Given the description of an element on the screen output the (x, y) to click on. 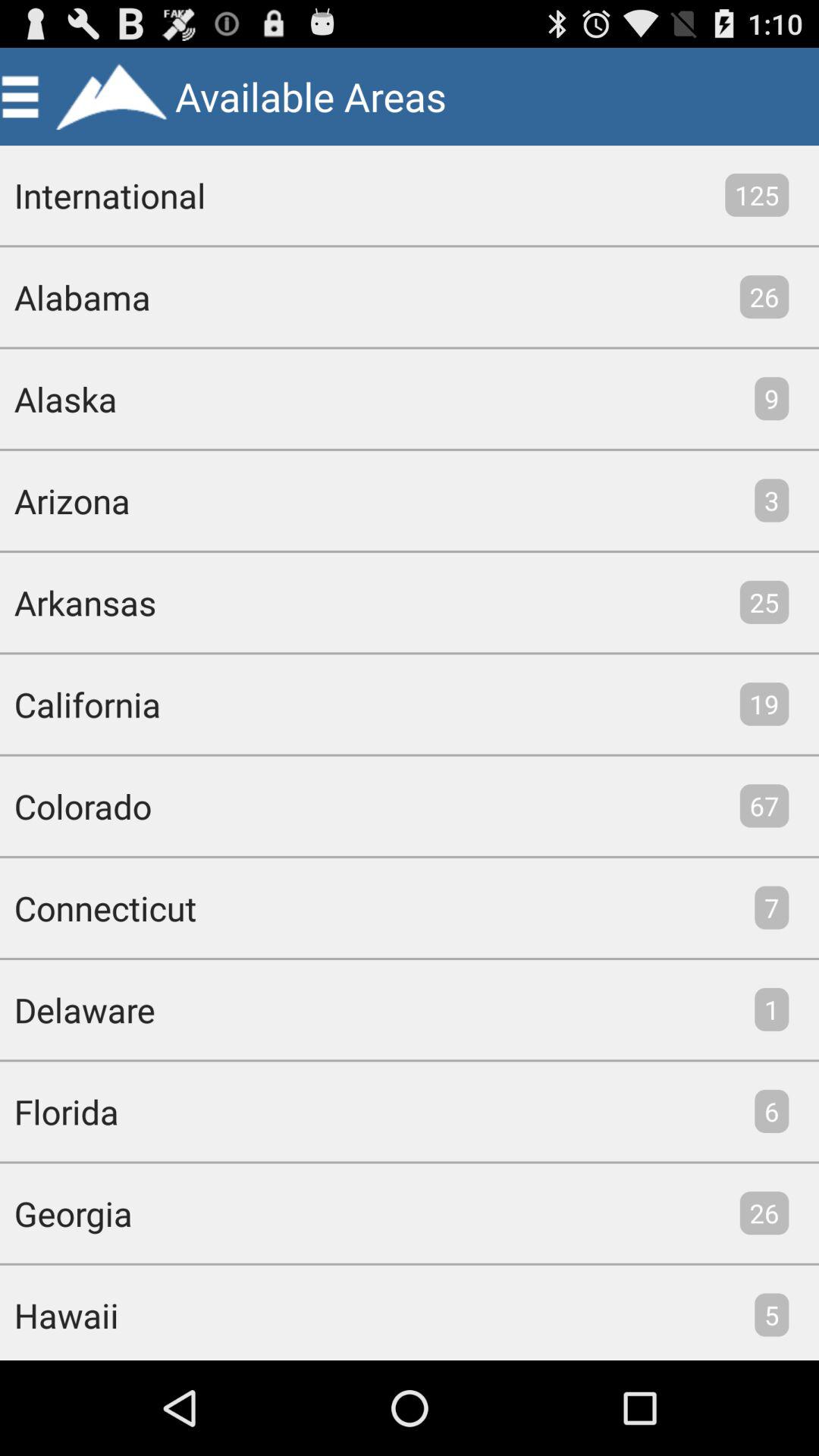
launch app below the 1 icon (771, 1110)
